Given the description of an element on the screen output the (x, y) to click on. 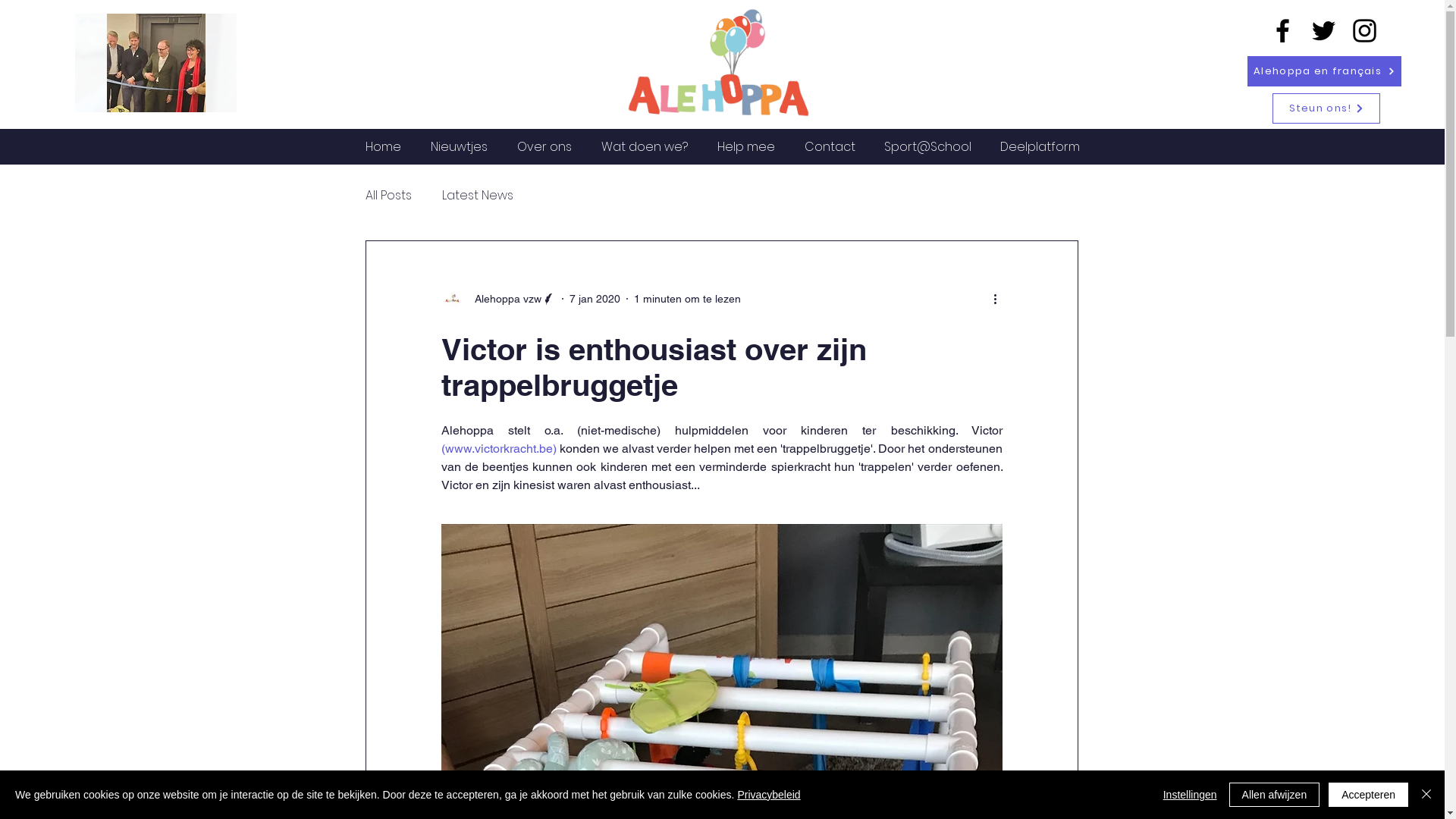
(www.victorkracht.be) Element type: text (498, 448)
Accepteren Element type: text (1368, 794)
All Posts Element type: text (388, 194)
Steun ons! Element type: text (1326, 108)
Nieuwtjes Element type: text (458, 146)
Privacybeleid Element type: text (768, 794)
Help mee Element type: text (745, 146)
Sport@School Element type: text (927, 146)
Over ons Element type: text (544, 146)
Home Element type: text (382, 146)
Alehoppa vzw Element type: text (498, 298)
Contact Element type: text (829, 146)
Deelplatform Element type: text (1039, 146)
Allen afwijzen Element type: text (1274, 794)
Latest News Element type: text (476, 194)
Wat doen we? Element type: text (644, 146)
